Given the description of an element on the screen output the (x, y) to click on. 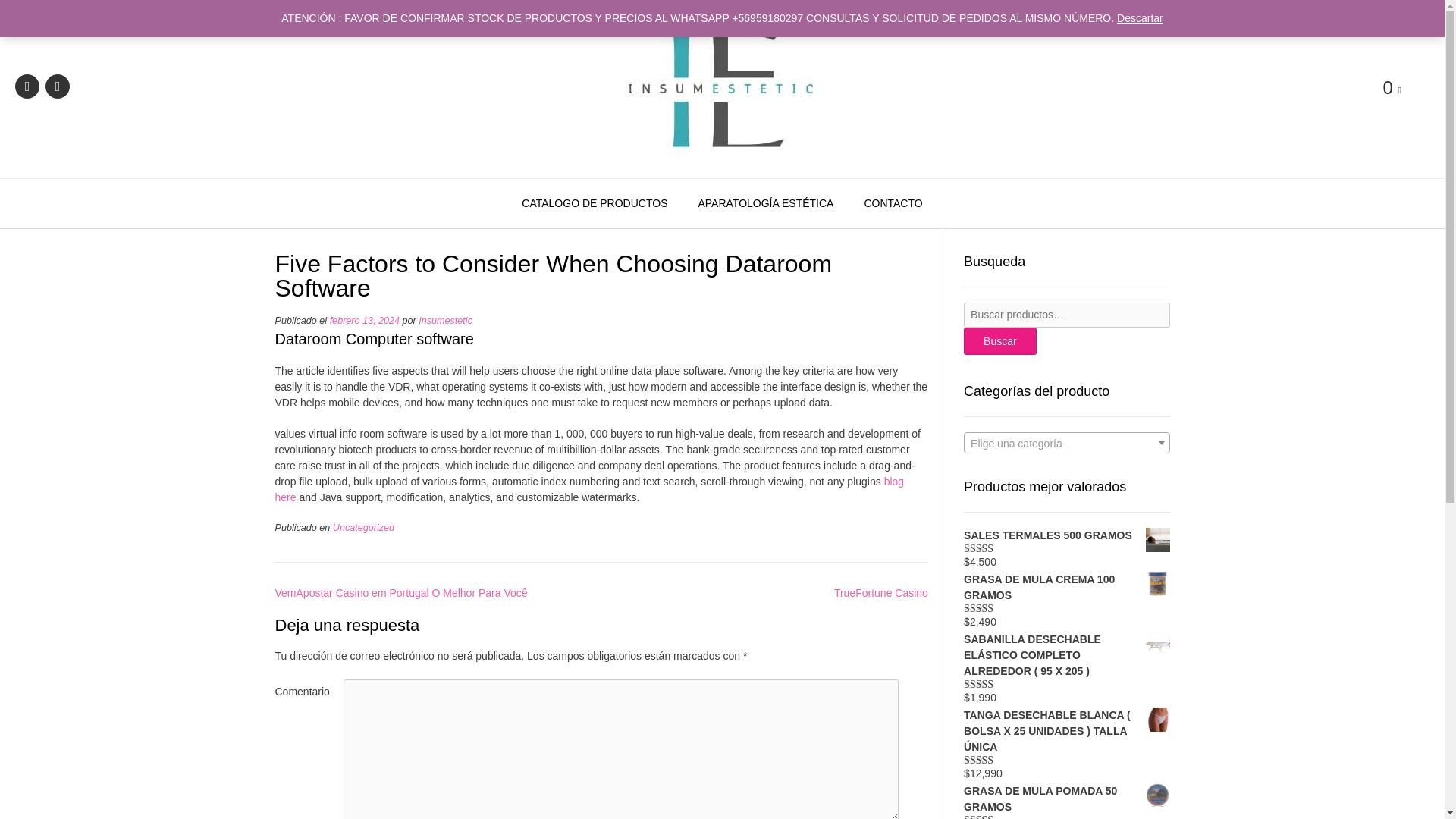
CATALOGO DE PRODUCTOS (594, 204)
febrero 13, 2024 (364, 320)
GRASA DE MULA CREMA 100 GRAMOS (1066, 587)
Ver tu carrito de la compra (1392, 87)
0 (1392, 87)
GRASA DE MULA POMADA 50 GRAMOS (1066, 798)
Descartar (1139, 18)
Uncategorized (363, 527)
TrueFortune Casino (881, 592)
SALES TERMALES 500 GRAMOS (1066, 535)
CONTACTO (892, 204)
Buscar (999, 340)
Insumestetic (445, 320)
Insumestetic (721, 88)
blog here (589, 489)
